Given the description of an element on the screen output the (x, y) to click on. 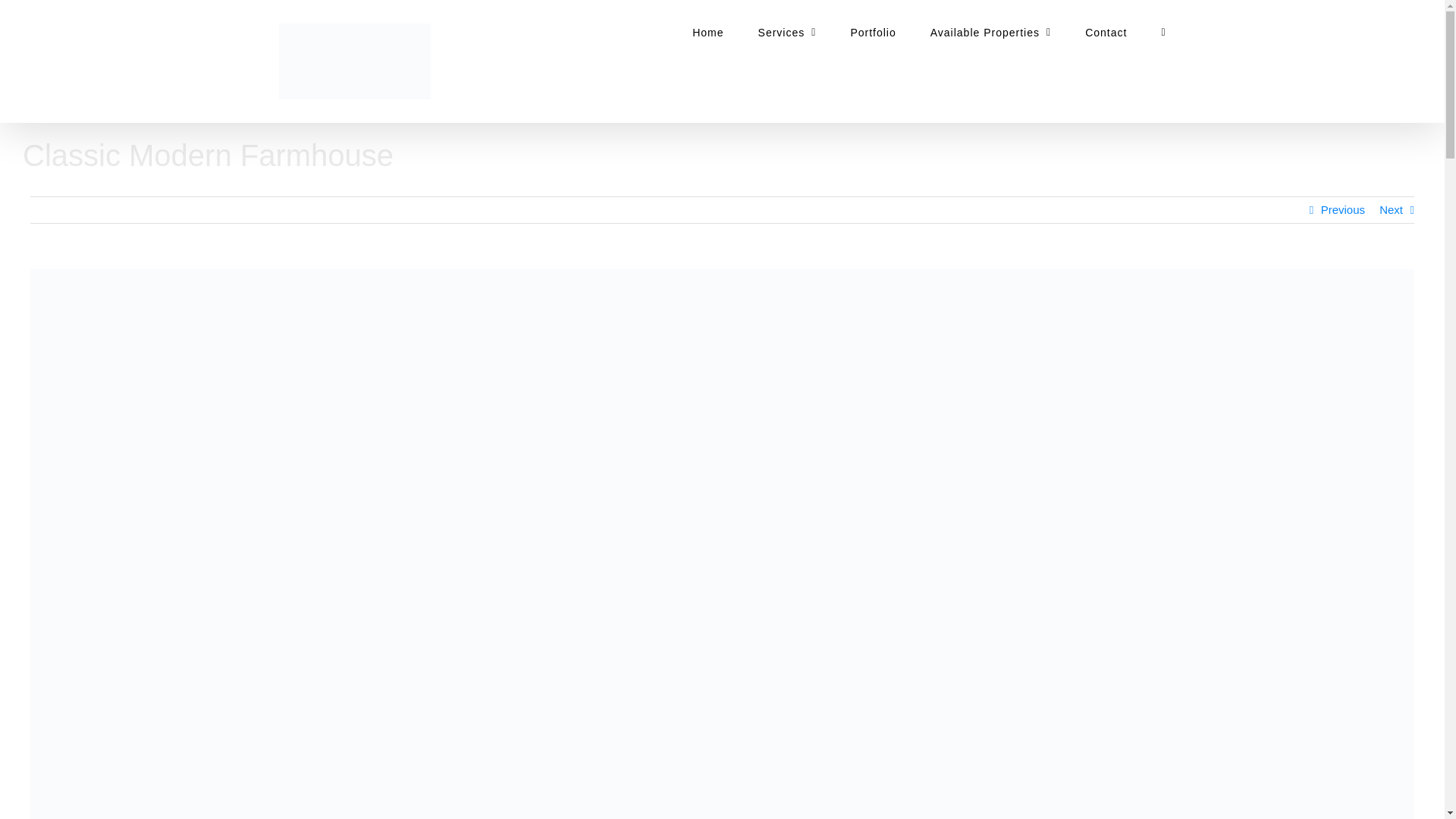
Previous (1342, 209)
Available Properties (990, 31)
Next (1390, 209)
Services (787, 31)
